Given the description of an element on the screen output the (x, y) to click on. 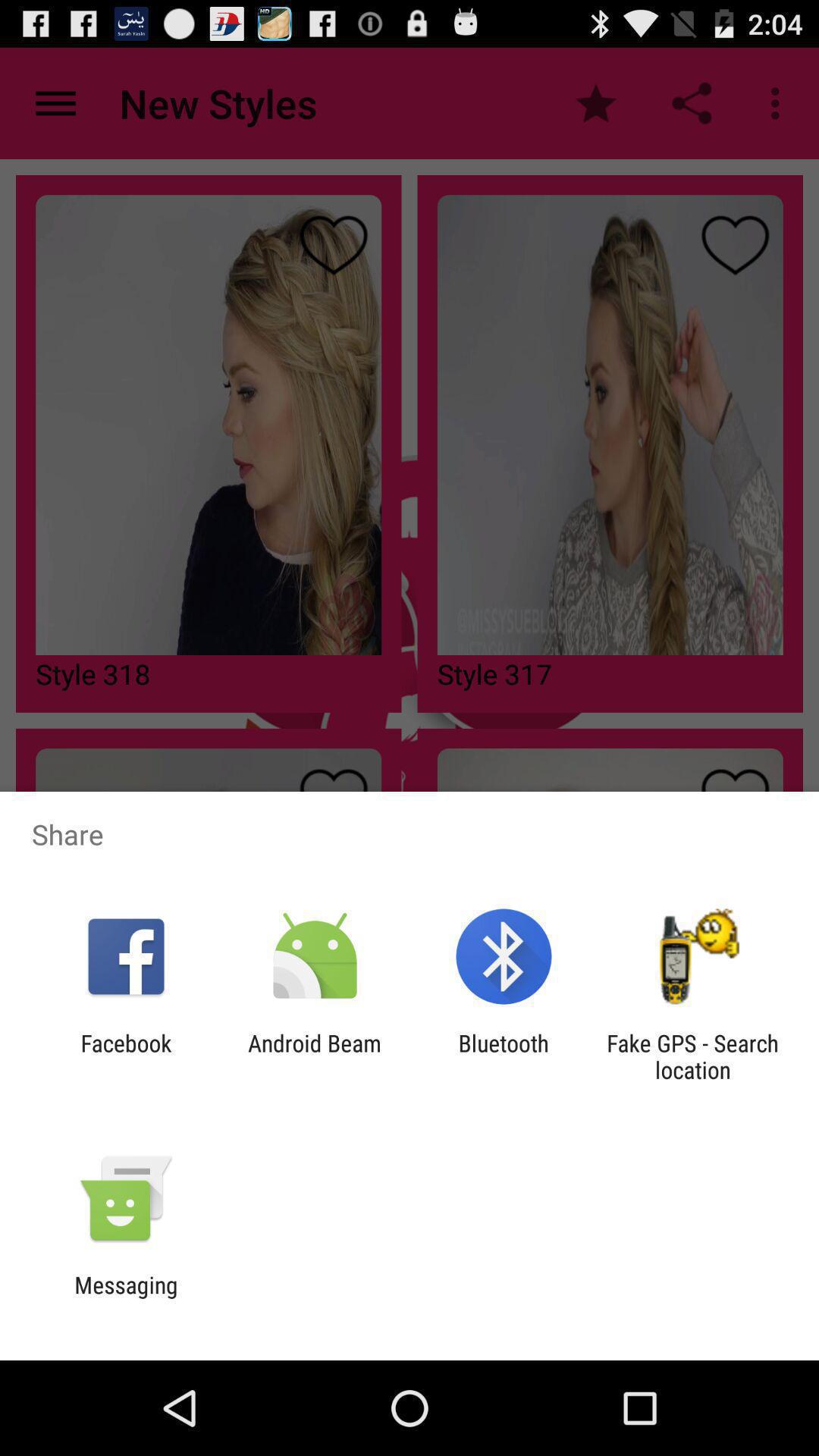
open the icon next to the android beam item (125, 1056)
